Given the description of an element on the screen output the (x, y) to click on. 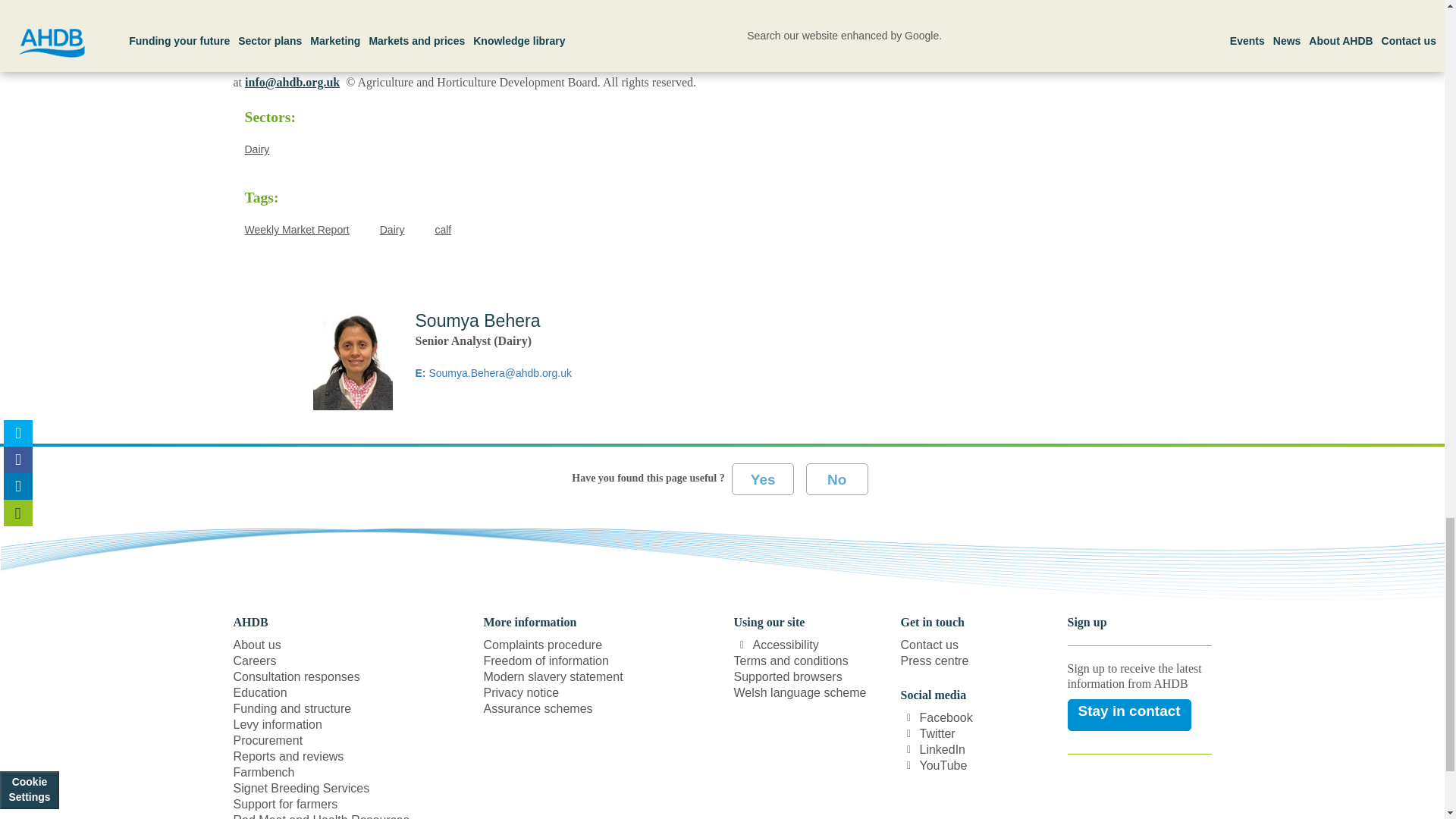
Yes (762, 479)
No (836, 479)
